Given the description of an element on the screen output the (x, y) to click on. 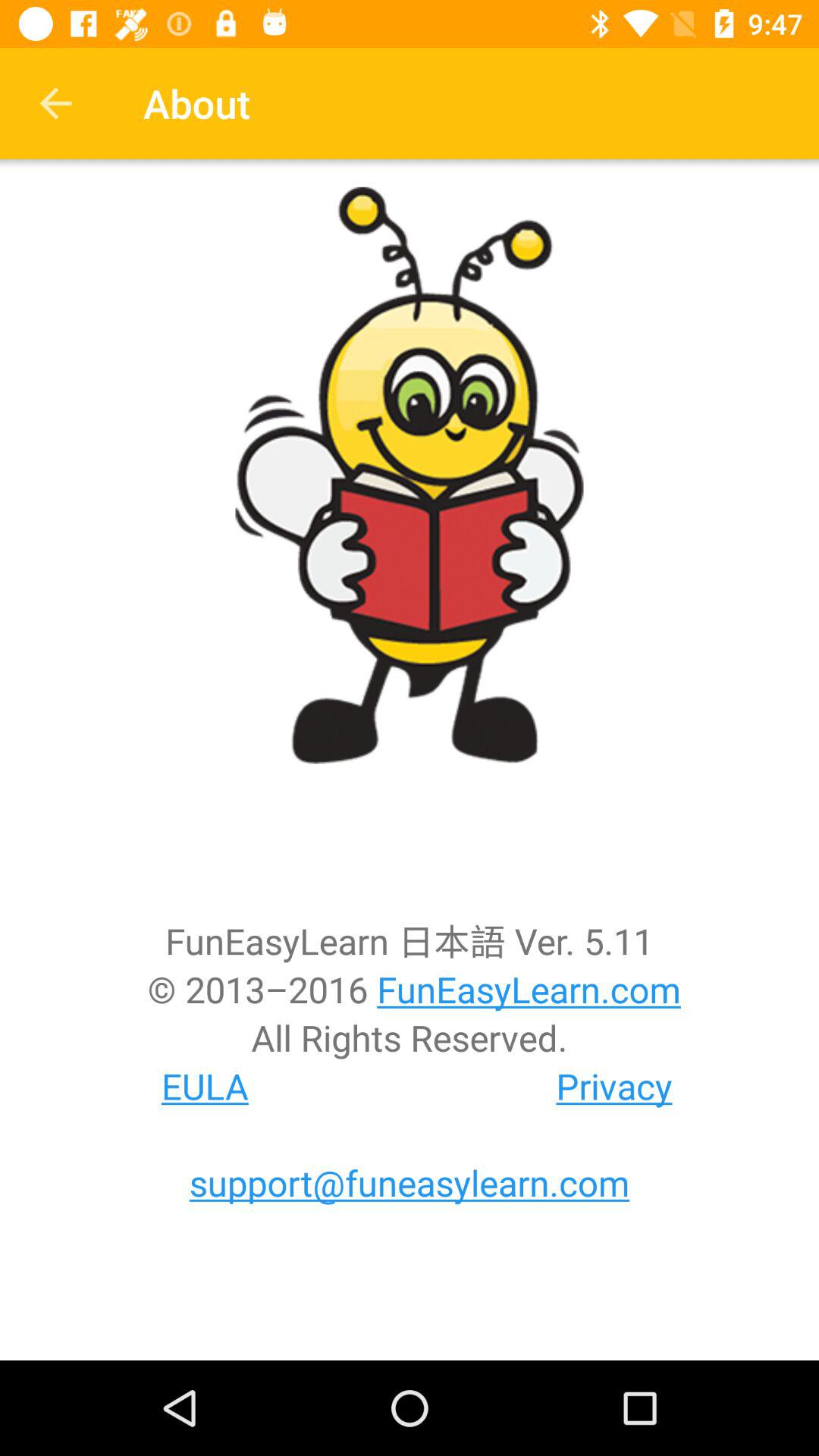
tap the item next to eula icon (614, 1085)
